Given the description of an element on the screen output the (x, y) to click on. 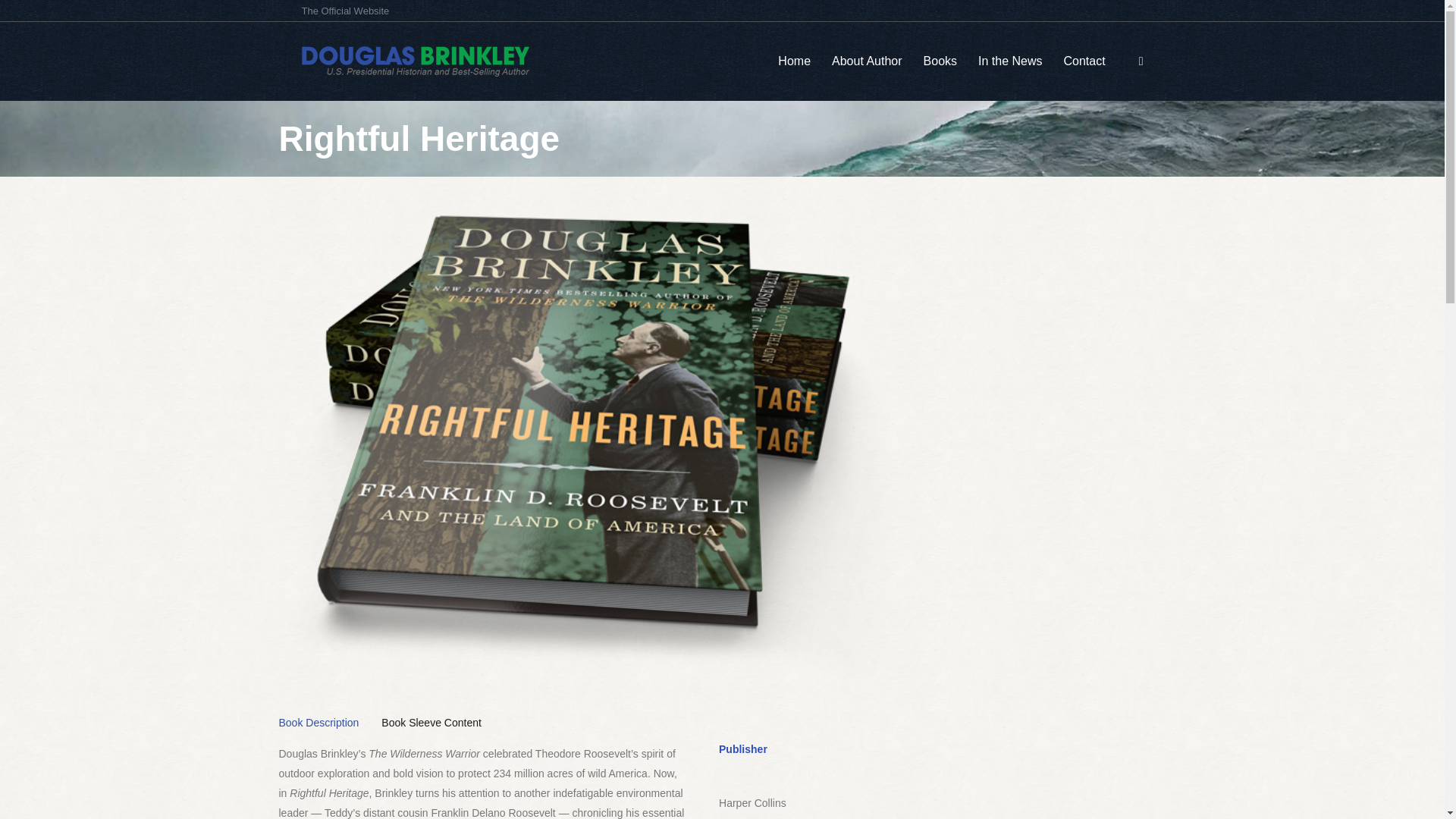
Go! (24, 16)
Book Sleeve Content (431, 722)
In the News (1010, 61)
About Author (866, 61)
Book Description (319, 722)
